Given the description of an element on the screen output the (x, y) to click on. 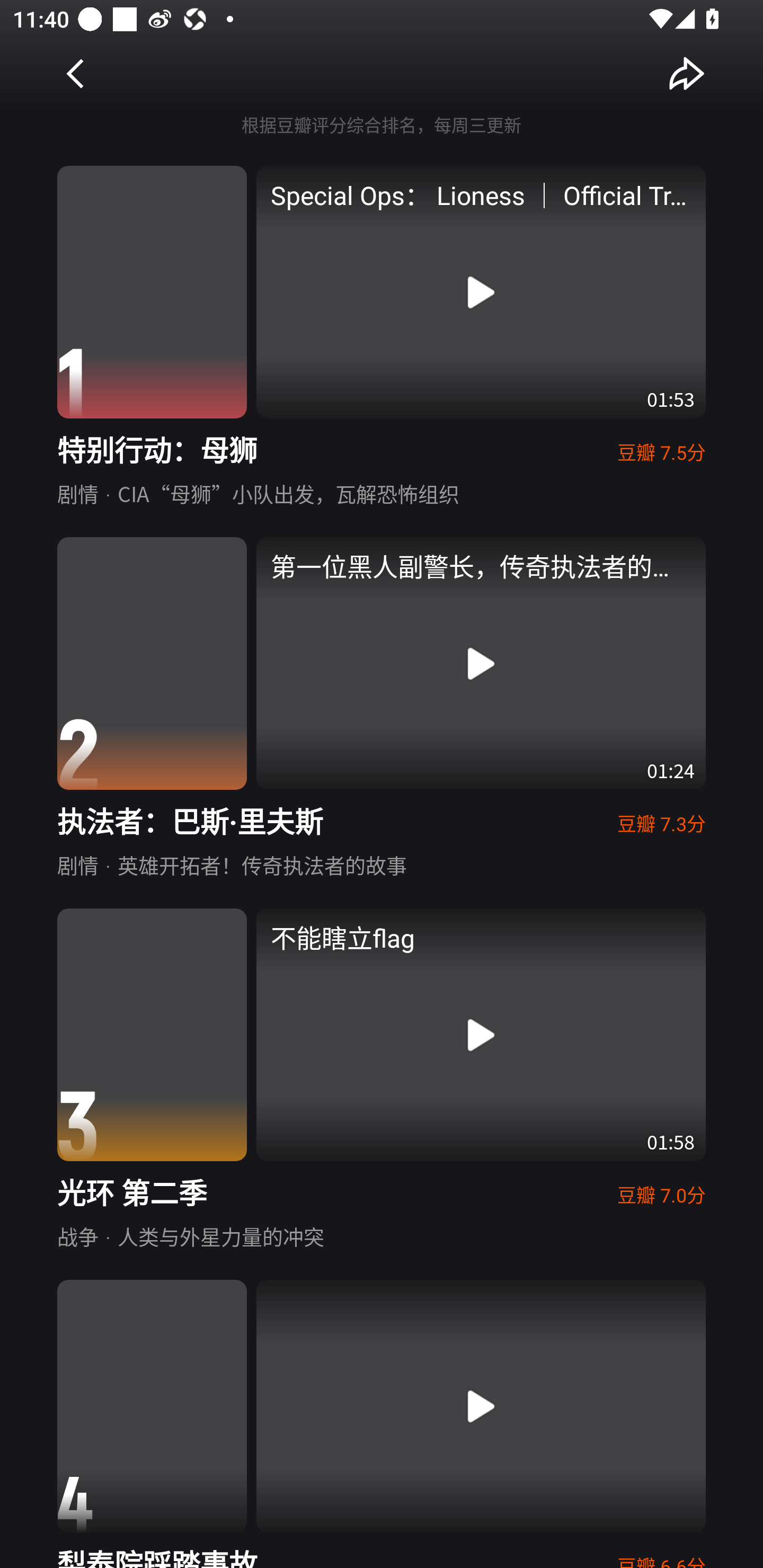
 返回 (76, 72)
 分享 (686, 72)
剧情 (77, 493)
CIA“母狮”小队出发，瓦解恐怖组织 (288, 493)
剧情 (77, 864)
英雄开拓者！传奇执法者的故事 (261, 864)
战争 (77, 1235)
人类与外星力量的冲突 (220, 1235)
